Given the description of an element on the screen output the (x, y) to click on. 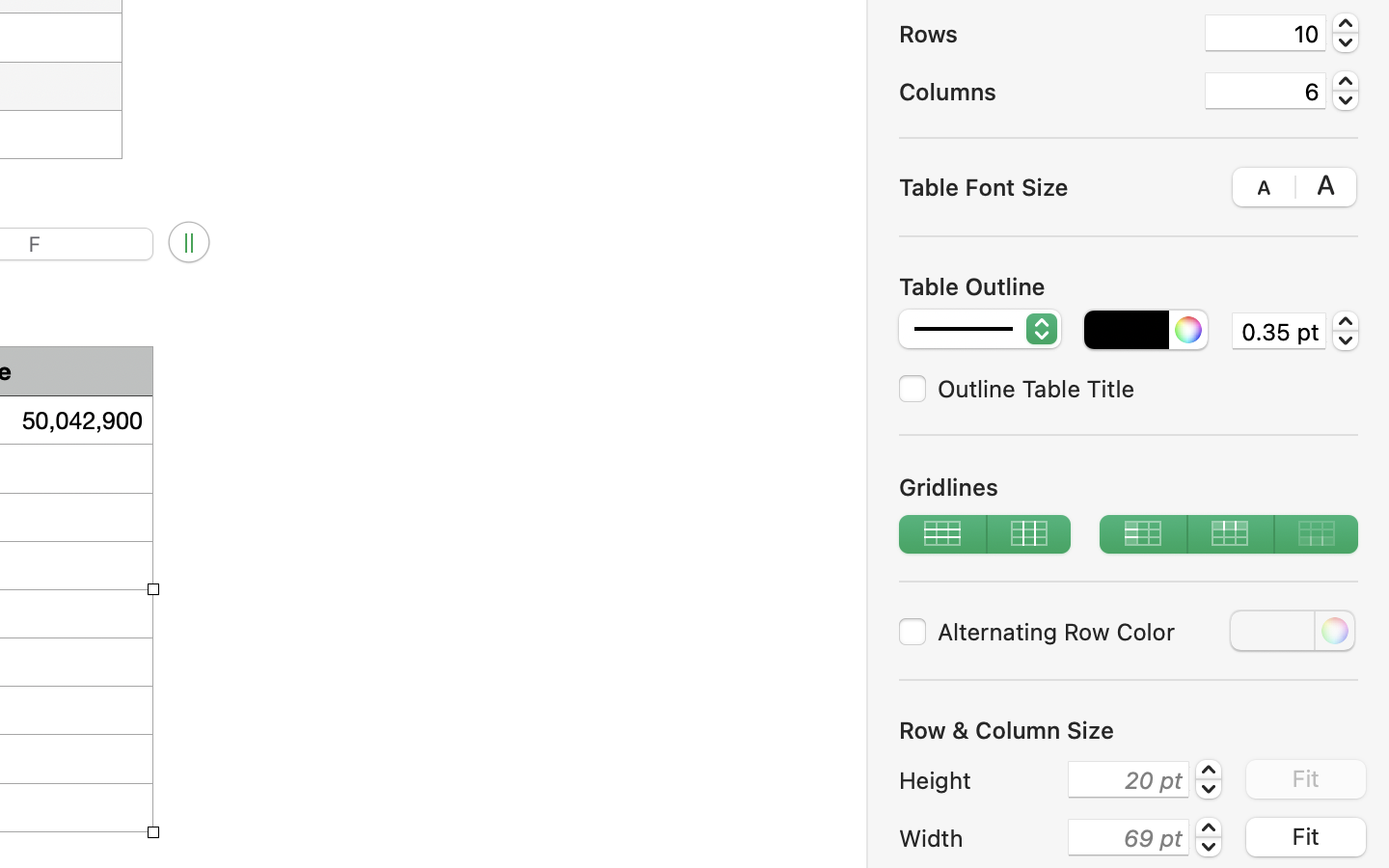
Height Element type: AXStaticText (978, 779)
6.0 Element type: AXIncrementor (1345, 90)
20.259930416941643 Element type: AXIncrementor (1208, 779)
68.5999984741211 Element type: AXIncrementor (1208, 837)
Table Outline Element type: AXStaticText (972, 285)
